Given the description of an element on the screen output the (x, y) to click on. 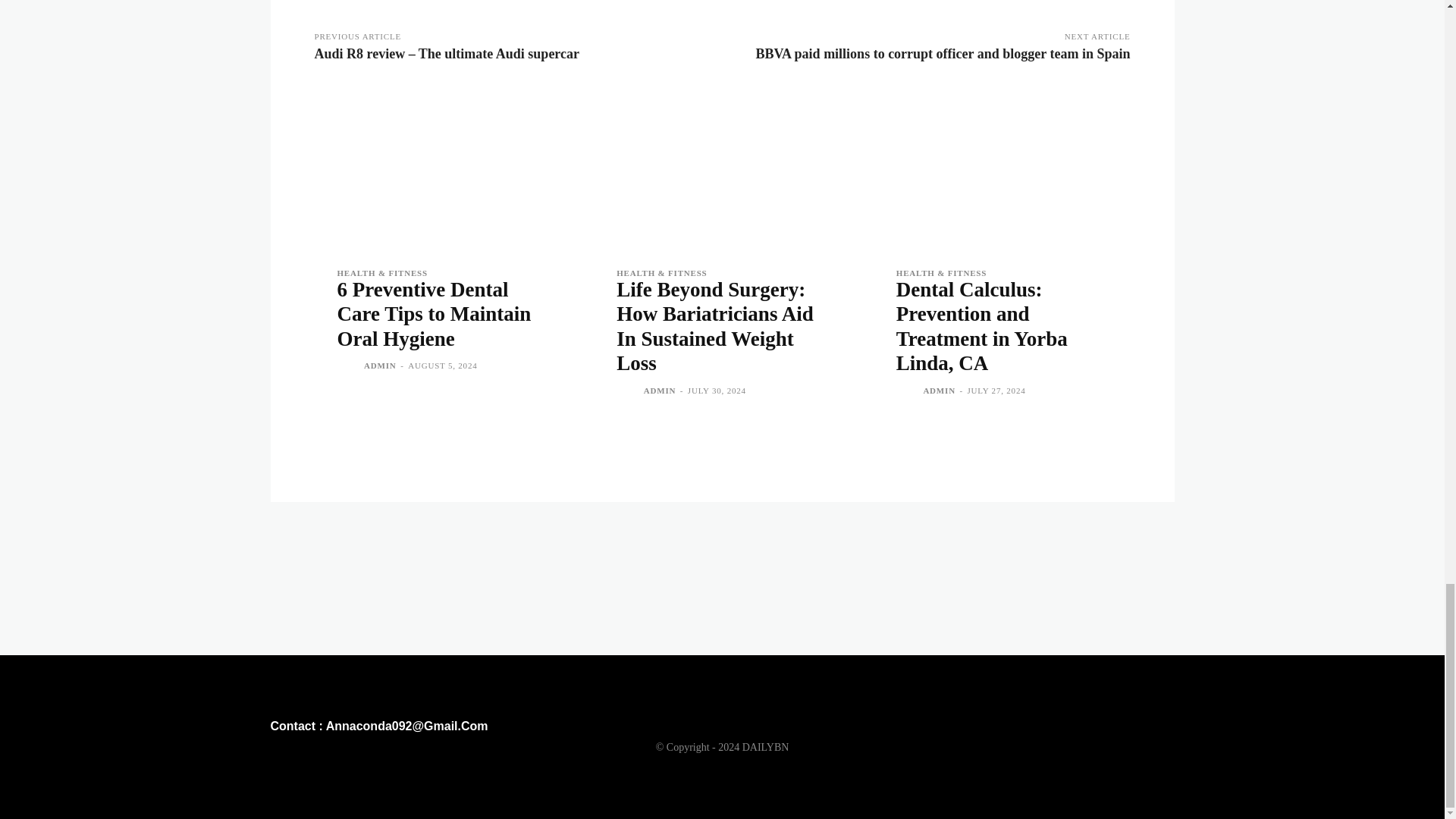
6 Preventive Dental Care Tips to Maintain Oral Hygiene (433, 314)
6 Preventive Dental Care Tips to Maintain Oral Hygiene (442, 169)
